Given the description of an element on the screen output the (x, y) to click on. 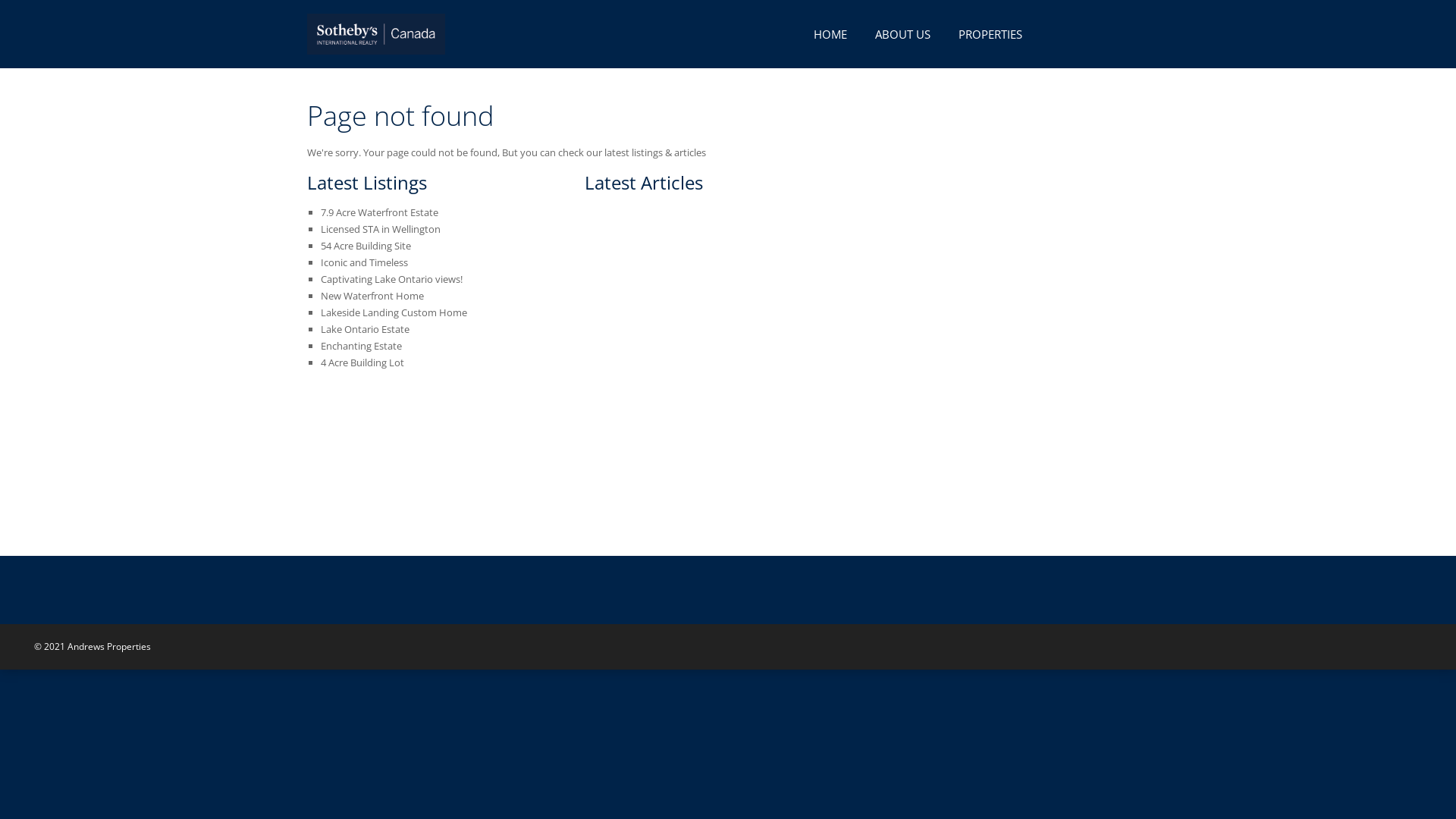
ABOUT US Element type: text (902, 34)
Captivating Lake Ontario views! Element type: text (391, 278)
Enchanting Estate Element type: text (360, 345)
4 Acre Building Lot Element type: text (362, 362)
54 Acre Building Site Element type: text (365, 245)
Licensed STA in Wellington Element type: text (380, 228)
PROPERTIES Element type: text (990, 34)
Lake Ontario Estate Element type: text (364, 328)
Lakeside Landing Custom Home Element type: text (393, 312)
Iconic and Timeless Element type: text (363, 262)
7.9 Acre Waterfront Estate Element type: text (379, 212)
HOME Element type: text (829, 34)
New Waterfront Home Element type: text (371, 295)
